Given the description of an element on the screen output the (x, y) to click on. 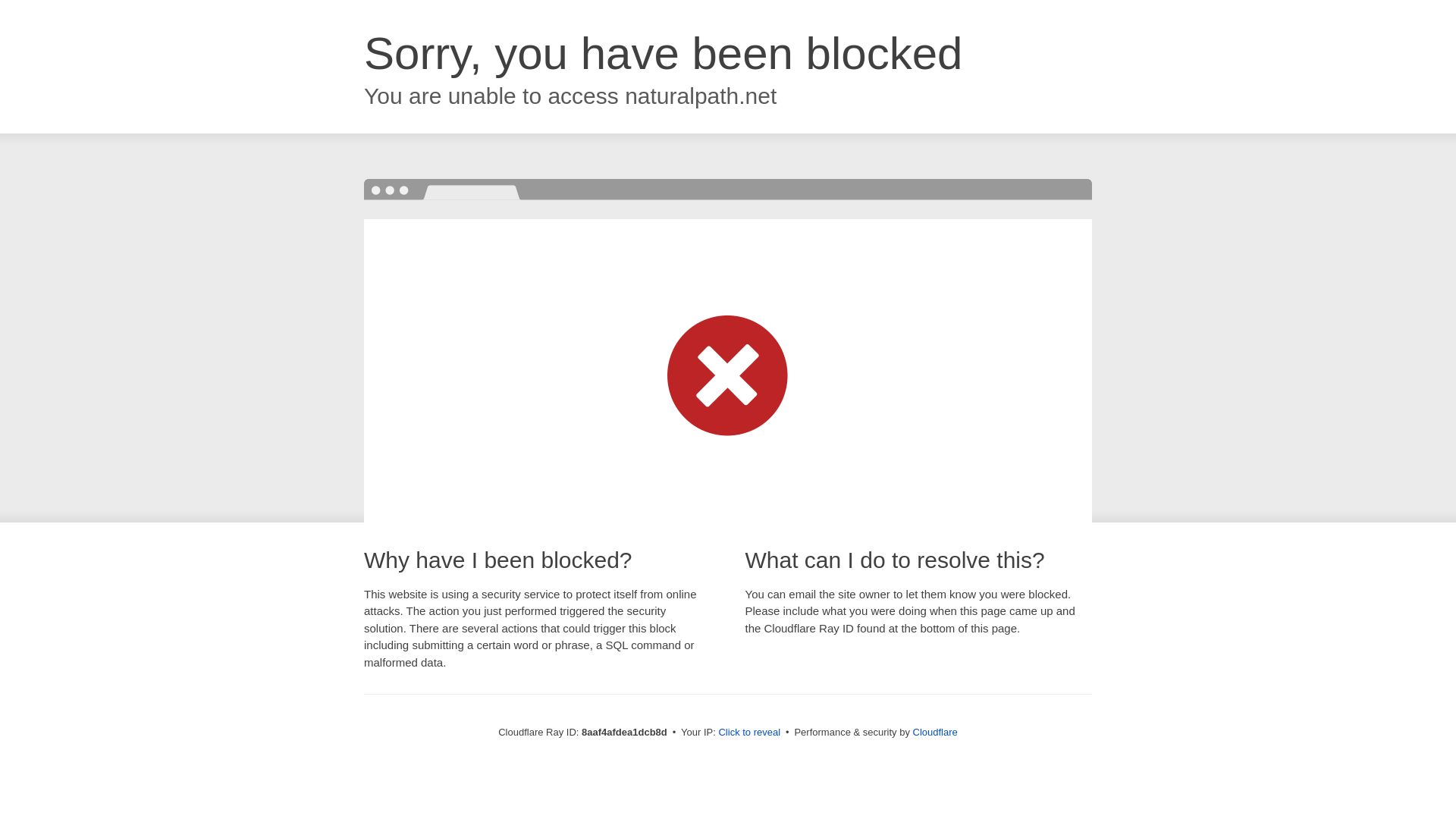
Click to reveal (748, 732)
Cloudflare (935, 731)
